Given the description of an element on the screen output the (x, y) to click on. 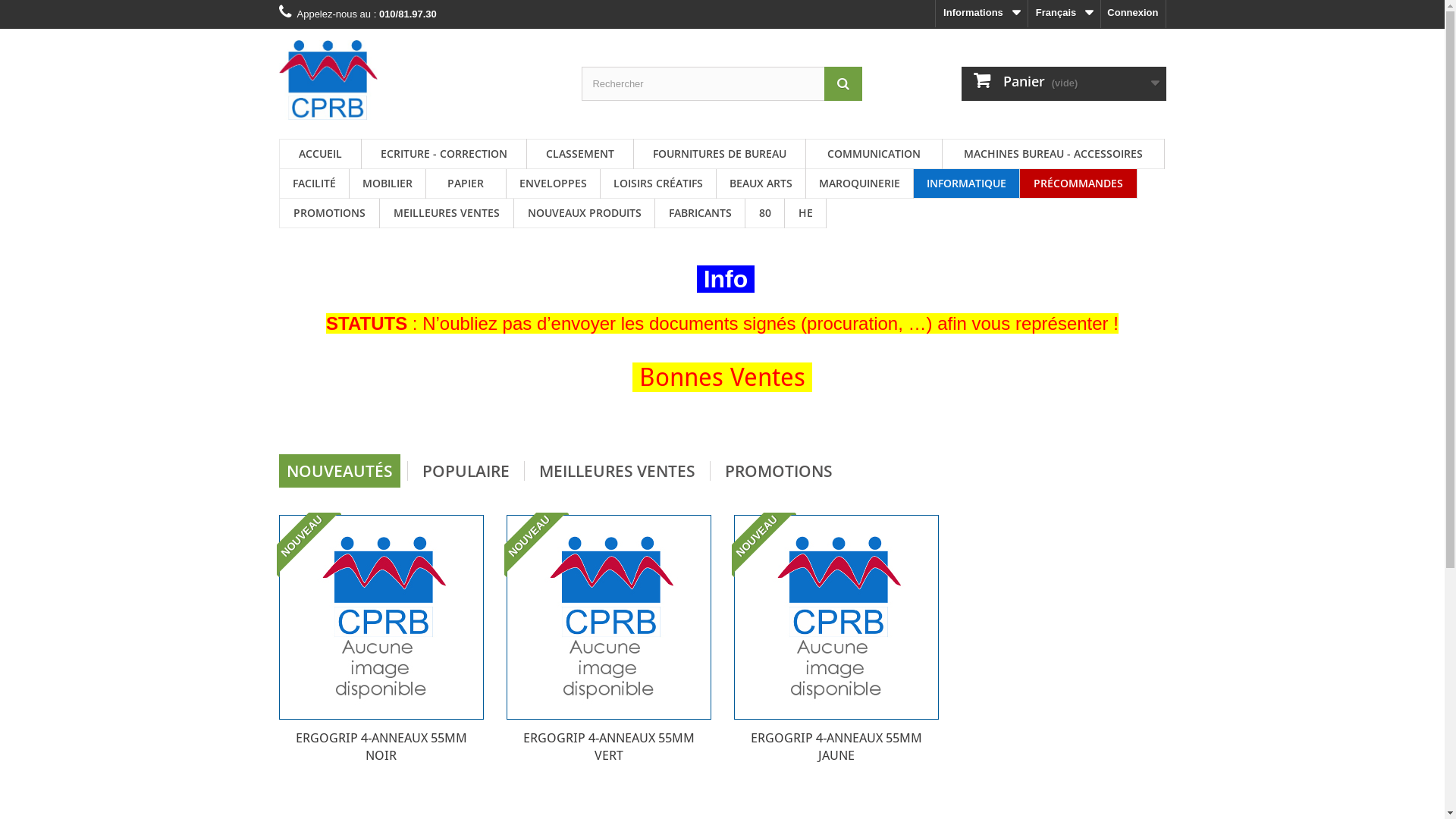
COMMUNICATION Element type: text (873, 153)
PROMOTIONS Element type: text (328, 213)
ACCUEIL Element type: text (319, 153)
MEILLEURES VENTES Element type: text (445, 213)
80 Element type: text (763, 213)
MAROQUINERIE Element type: text (858, 183)
MACHINES BUREAU - ACCESSOIRES Element type: text (1052, 153)
PROMOTIONS Element type: text (778, 470)
NOUVEAU Element type: text (535, 544)
FABRICANTS Element type: text (699, 213)
ERGOGRIP 4-ANNEAUX 55MM JAUNE Element type: text (835, 746)
NOUVEAUX PRODUITS Element type: text (584, 213)
HE Element type: text (804, 213)
NOUVEAU Element type: text (308, 544)
ERGOGRIP 4-ANNEAUX 55MM VERT Element type: text (608, 746)
MOBILIER Element type: text (386, 183)
ERGOGRIP 4-ANNEAUX 55MM VERT Element type: hover (608, 617)
CLASSEMENT Element type: text (579, 153)
POPULAIRE Element type: text (465, 470)
INFORMATIQUE Element type: text (965, 183)
Connexion Element type: text (1132, 14)
ERGOGRIP 4-ANNEAUX 55MM NOIR Element type: hover (381, 617)
FOURNITURES DE BUREAU Element type: text (719, 153)
ERGOGRIP 4-ANNEAUX 55MM JAUNE Element type: hover (836, 617)
ENVELOPPES Element type: text (552, 183)
NOUVEAU Element type: text (763, 544)
ECRITURE - CORRECTION Element type: text (442, 153)
PAPIER Element type: text (465, 183)
CPRB Element type: hover (419, 79)
BEAUX ARTS Element type: text (759, 183)
ERGOGRIP 4-ANNEAUX 55MM NOIR Element type: text (380, 746)
MEILLEURES VENTES Element type: text (616, 470)
Panier (vide) Element type: text (1063, 83)
